Given the description of an element on the screen output the (x, y) to click on. 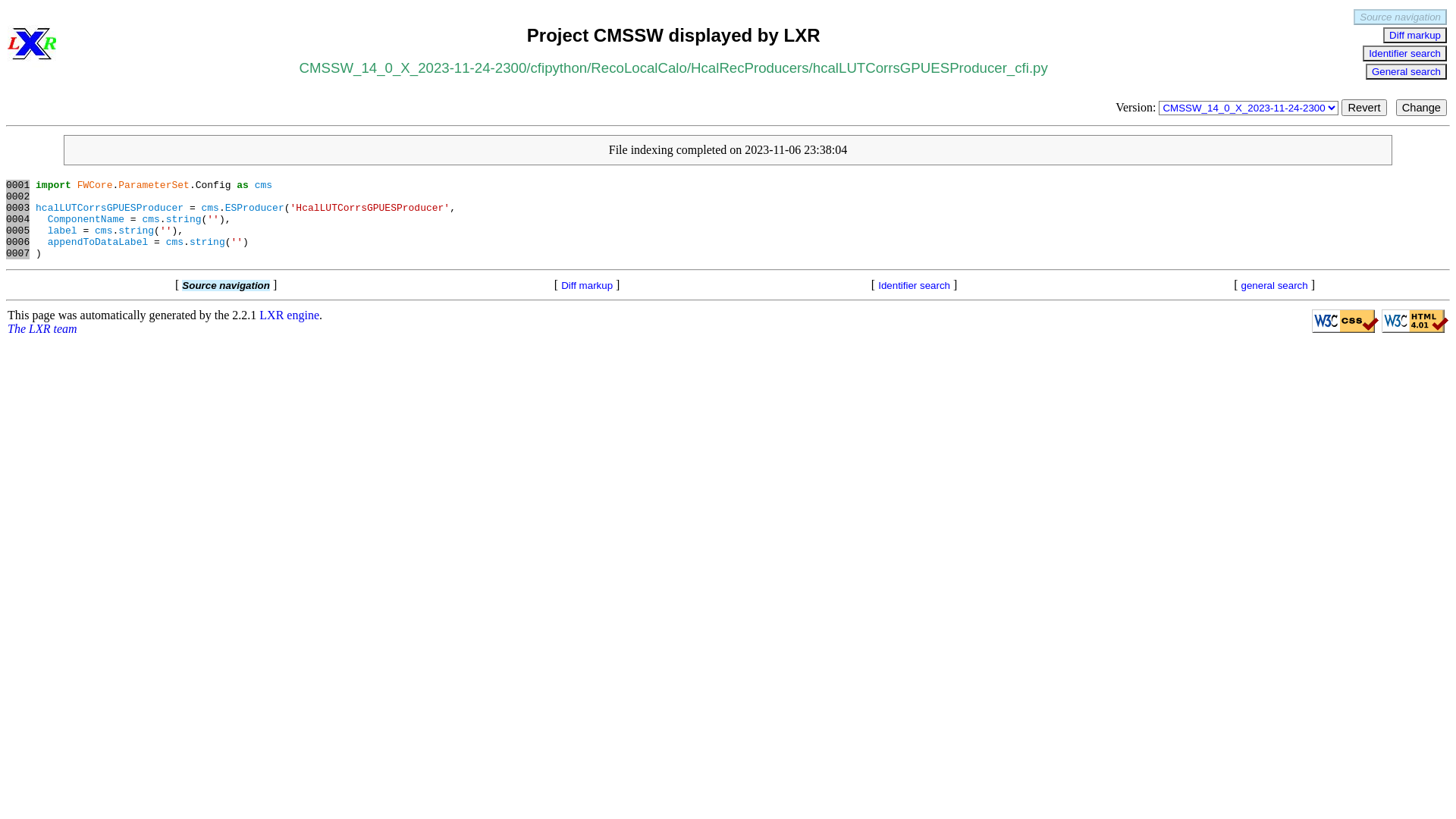
Revert Element type: text (1363, 107)
0006 Element type: text (17, 241)
Diff markup Element type: text (586, 285)
ESProducer Element type: text (254, 207)
HcalRecProducers Element type: text (749, 67)
label Element type: text (62, 230)
FWCore Element type: text (94, 185)
0005 Element type: text (17, 230)
ComponentName Element type: text (85, 219)
Identifier search Element type: text (1404, 53)
0003 Element type: text (17, 207)
hcalLUTCorrsGPUESProducer Element type: text (109, 207)
string Element type: text (183, 219)
General search Element type: text (1405, 71)
hcalLUTCorrsGPUESProducer_cfi.py Element type: text (930, 67)
string Element type: text (207, 241)
cms Element type: text (209, 207)
cms Element type: text (174, 241)
0004 Element type: text (17, 219)
Identifier search Element type: text (914, 285)
0007 Element type: text (17, 253)
CMSSW_14_0_X_2023-11-24-2300 Element type: text (413, 67)
cms Element type: text (103, 230)
cfipython Element type: text (558, 67)
Diff markup Element type: text (1414, 35)
cms Element type: text (150, 219)
RecoLocalCalo Element type: text (638, 67)
0001 Element type: text (17, 185)
LXR engine Element type: text (289, 314)
ParameterSet Element type: text (153, 185)
string Element type: text (135, 230)
general search Element type: text (1274, 285)
Source navigation Element type: text (1399, 17)
Change Element type: text (1421, 107)
The LXR team Element type: text (42, 328)
appendToDataLabel Element type: text (97, 241)
0002 Element type: text (17, 196)
cms Element type: text (263, 185)
